Given the description of an element on the screen output the (x, y) to click on. 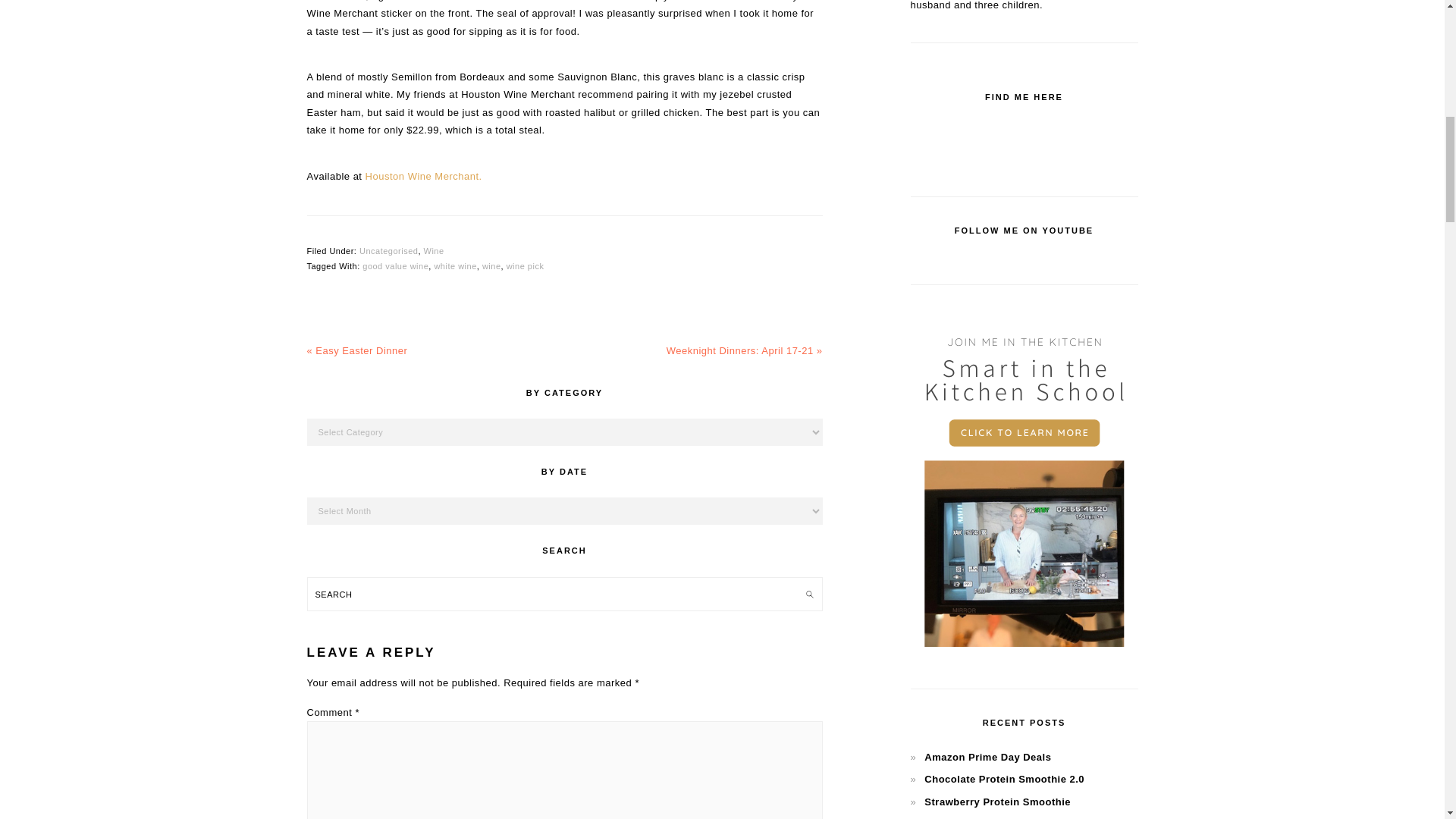
Uncategorised (388, 250)
Chocolate Protein Smoothie 2.0 (1004, 778)
Amazon Prime Day Deals (987, 756)
wine pick (525, 266)
Houston Wine Merchant. (423, 175)
good value wine (395, 266)
Wine (433, 250)
Strawberry Protein Smoothie (997, 801)
white wine (454, 266)
wine (490, 266)
